Given the description of an element on the screen output the (x, y) to click on. 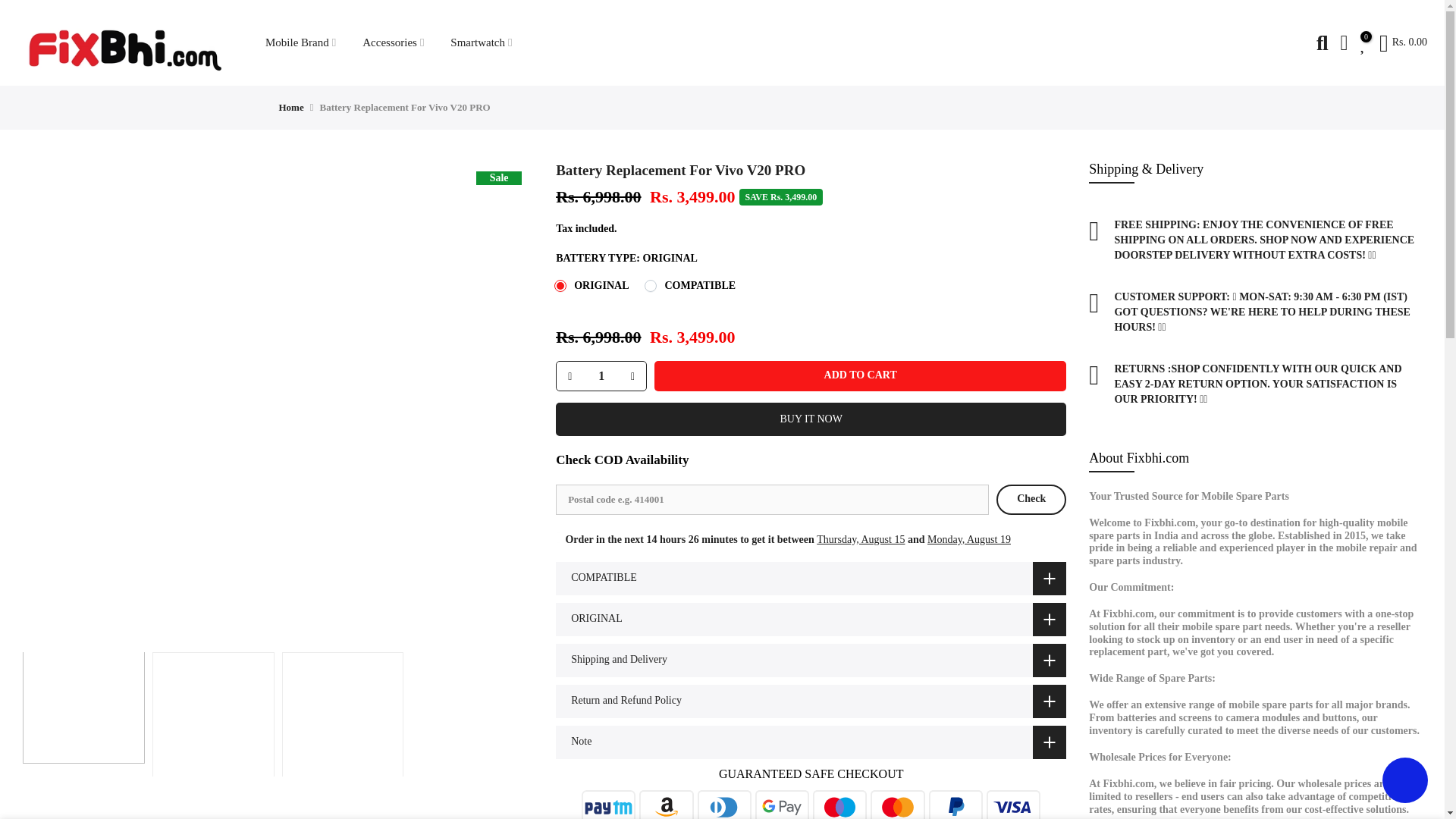
Mobile Brand (300, 43)
Shipping and Delivery (810, 660)
ADD TO CART (859, 376)
Accessories (393, 43)
Rs. 0.00 (1402, 43)
0 (1363, 43)
Shopify online store chat (1404, 781)
Return and Refund Policy (810, 701)
ORIGINAL (810, 619)
BUY IT NOW (810, 418)
